Given the description of an element on the screen output the (x, y) to click on. 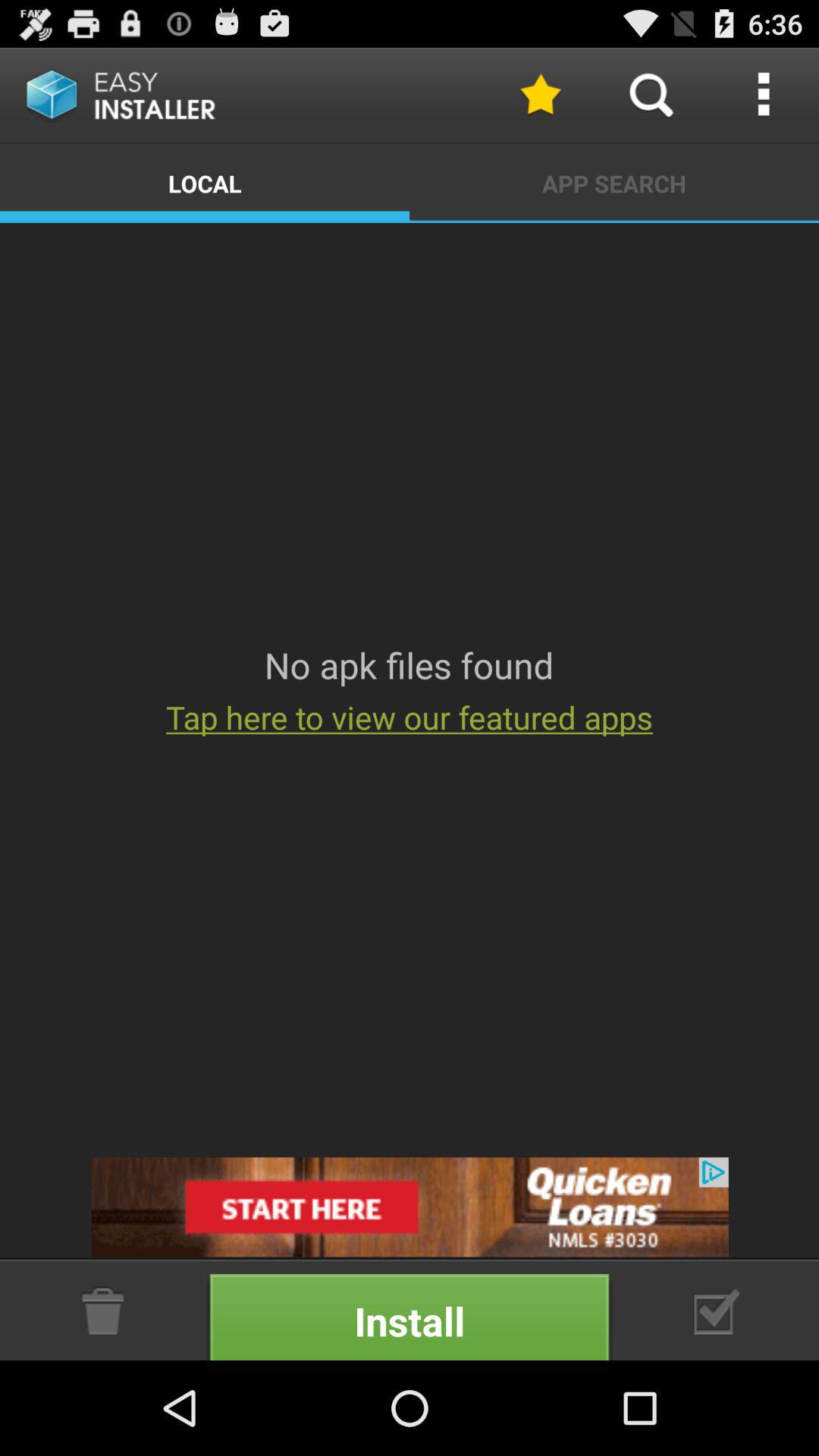
load advert (409, 1206)
